Given the description of an element on the screen output the (x, y) to click on. 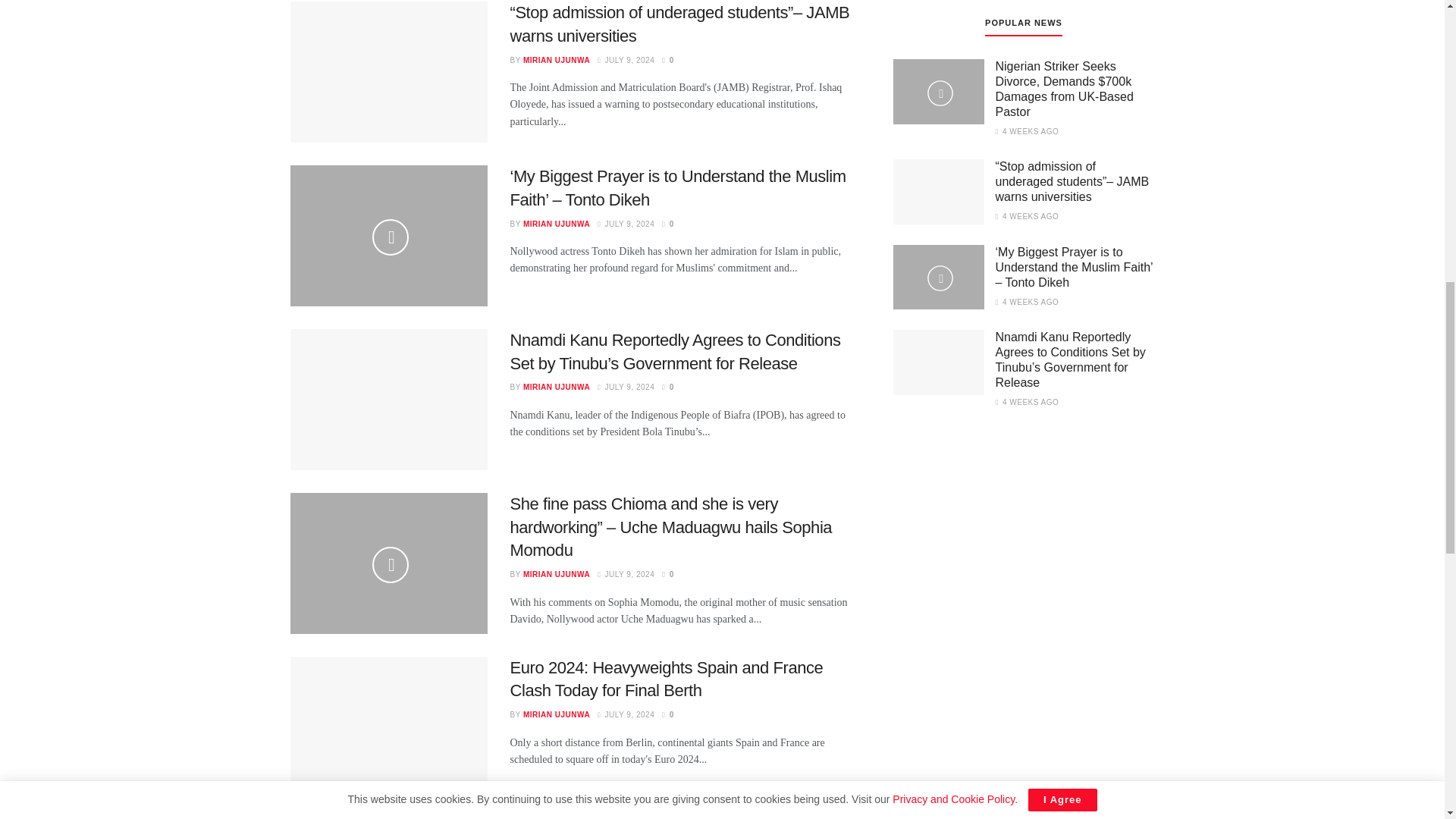
MIRIAN UJUNWA (555, 387)
0 (668, 387)
JULY 9, 2024 (624, 387)
0 (668, 60)
JULY 9, 2024 (624, 60)
JULY 9, 2024 (624, 224)
0 (668, 224)
MIRIAN UJUNWA (555, 60)
MIRIAN UJUNWA (555, 224)
